Given the description of an element on the screen output the (x, y) to click on. 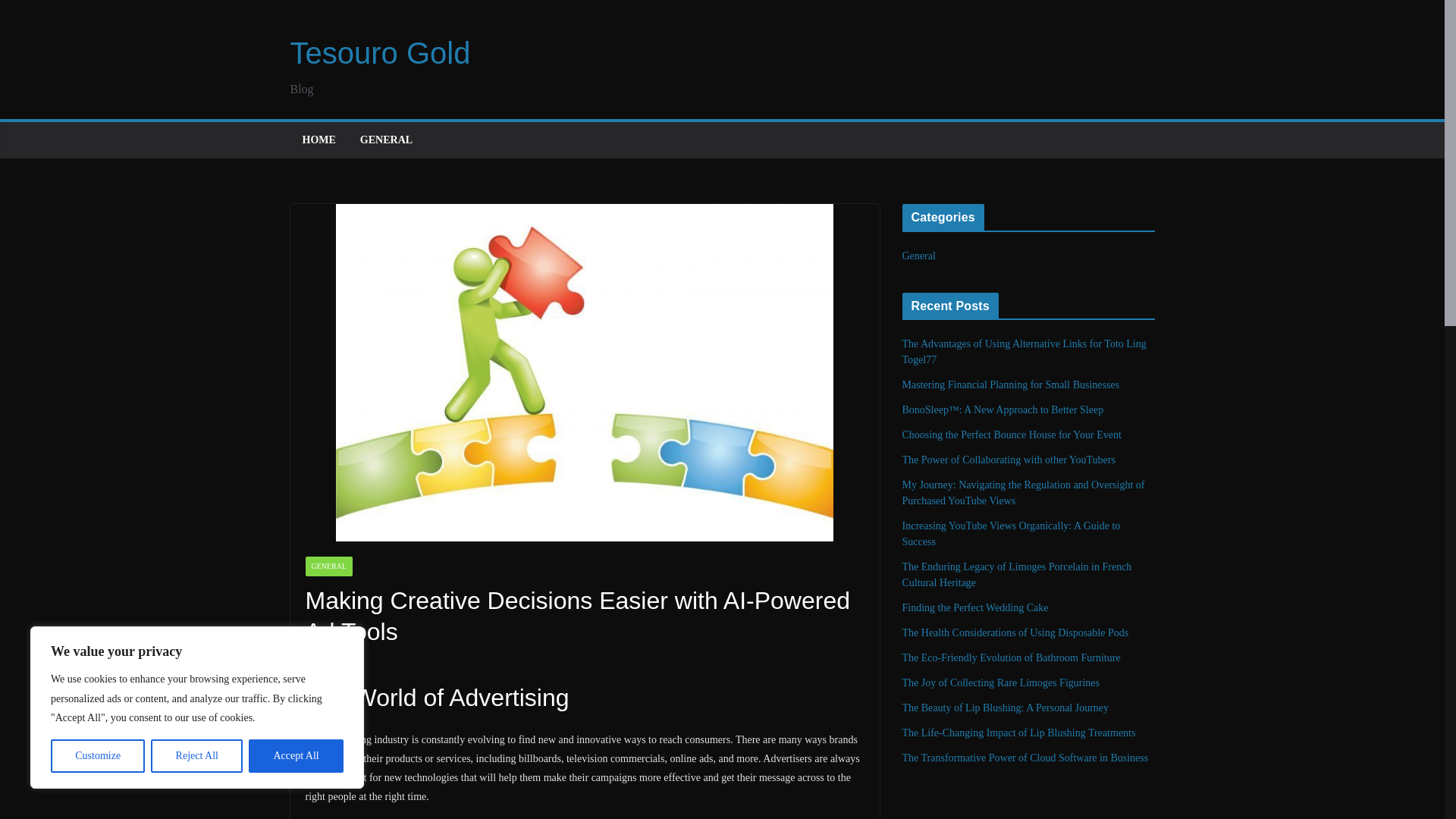
Finding the Perfect Wedding Cake (975, 607)
The Health Considerations of Using Disposable Pods (1015, 632)
The Power of Collaborating with other YouTubers (1008, 460)
General (919, 255)
The Eco-Friendly Evolution of Bathroom Furniture (1011, 657)
Customize (97, 756)
Choosing the Perfect Bounce House for Your Event (1011, 434)
Tesouro Gold (379, 52)
GENERAL (328, 566)
Tesouro Gold (379, 52)
HOME (317, 139)
Accept All (295, 756)
